Given the description of an element on the screen output the (x, y) to click on. 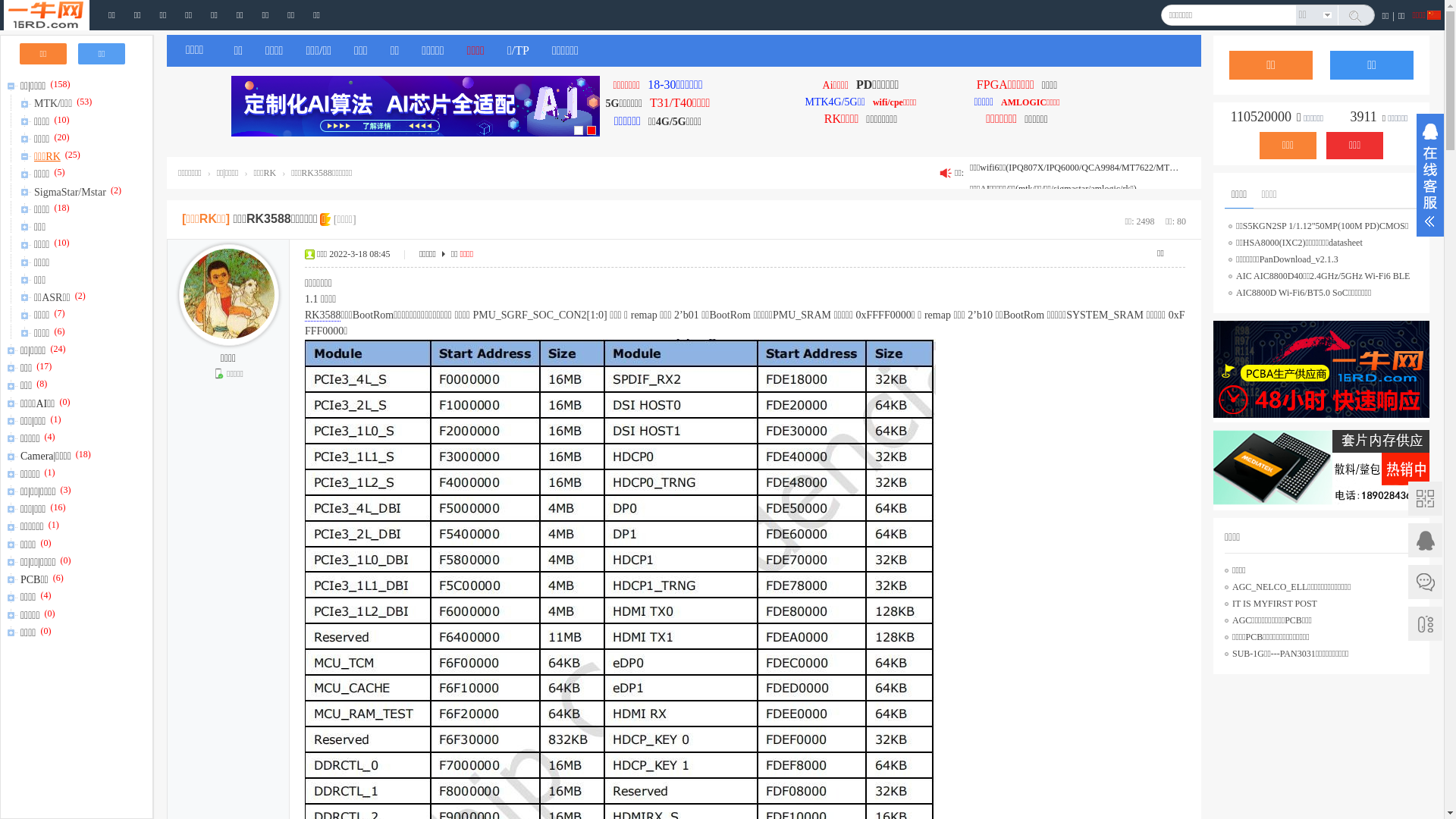
SigmaStar/Mstar Element type: text (71, 189)
       Element type: text (1356, 16)
RK3588 Element type: text (322, 315)
IT IS MYFIRST POST Element type: text (1274, 603)
